Given the description of an element on the screen output the (x, y) to click on. 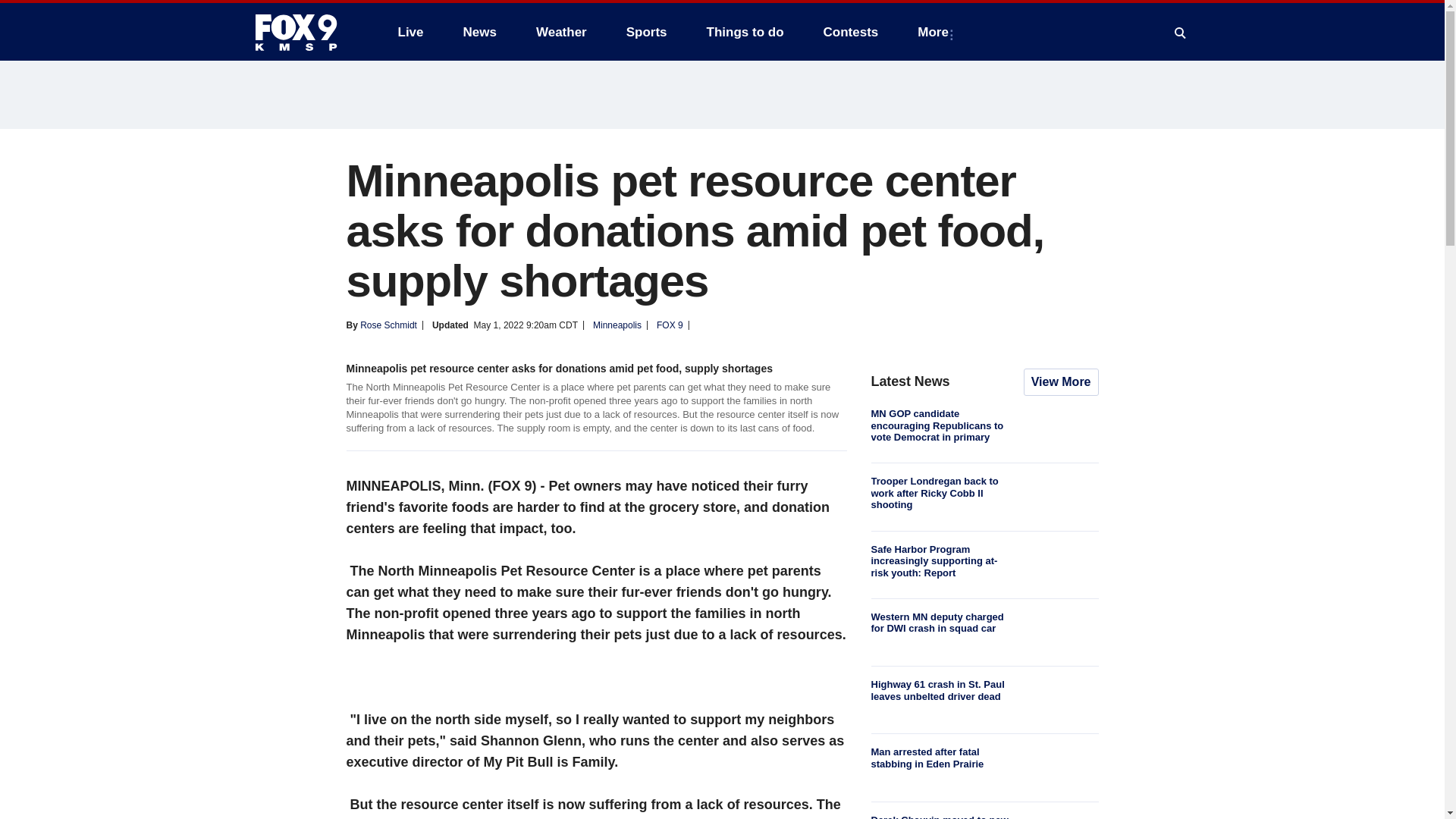
Weather (561, 32)
Live (410, 32)
Sports (646, 32)
Things to do (745, 32)
Contests (850, 32)
More (935, 32)
News (479, 32)
